Given the description of an element on the screen output the (x, y) to click on. 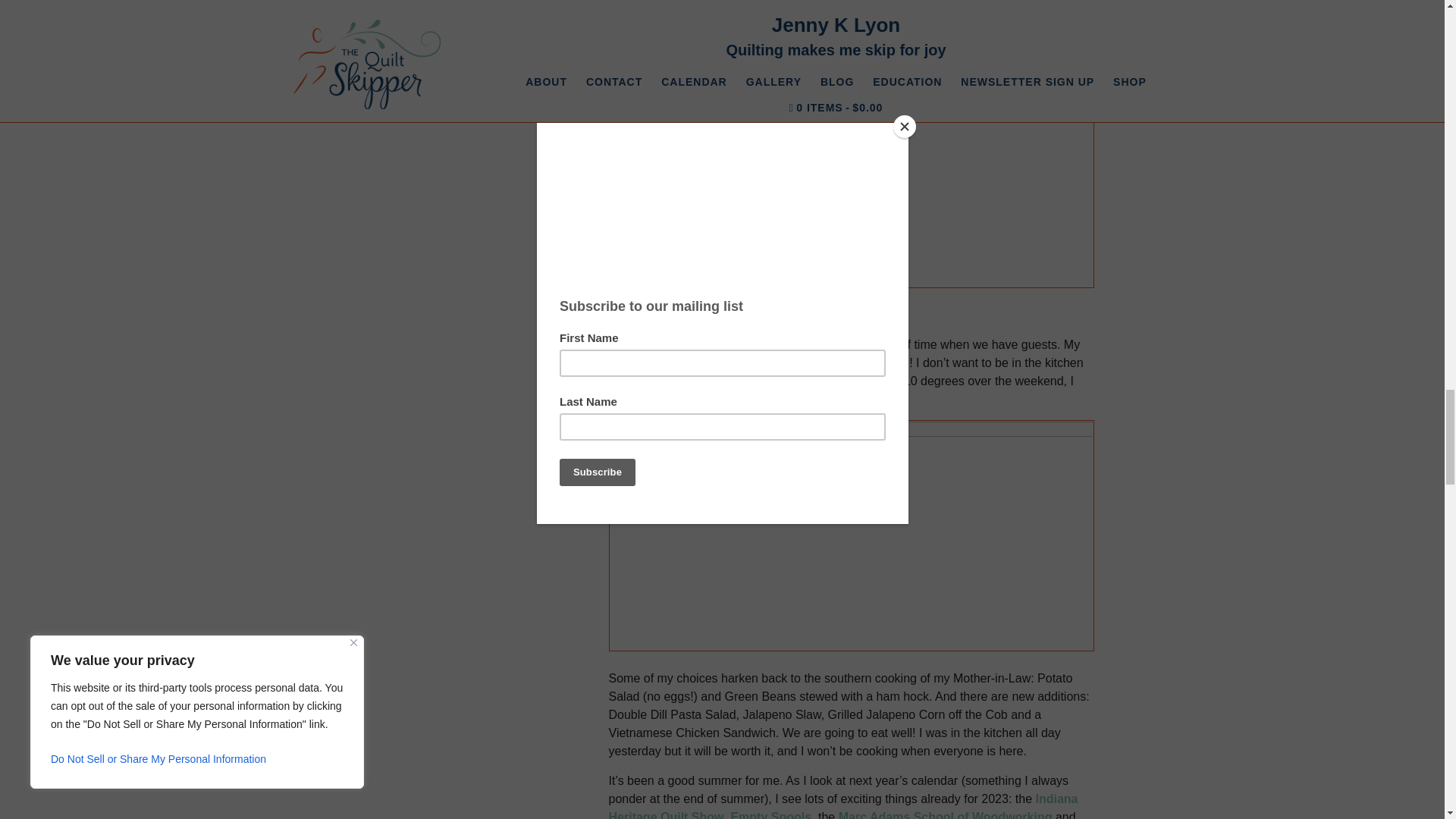
Marc Adams School of Woodworking (945, 814)
Empty Spools (770, 814)
Indiana Heritage Quilt Show (842, 805)
